Given the description of an element on the screen output the (x, y) to click on. 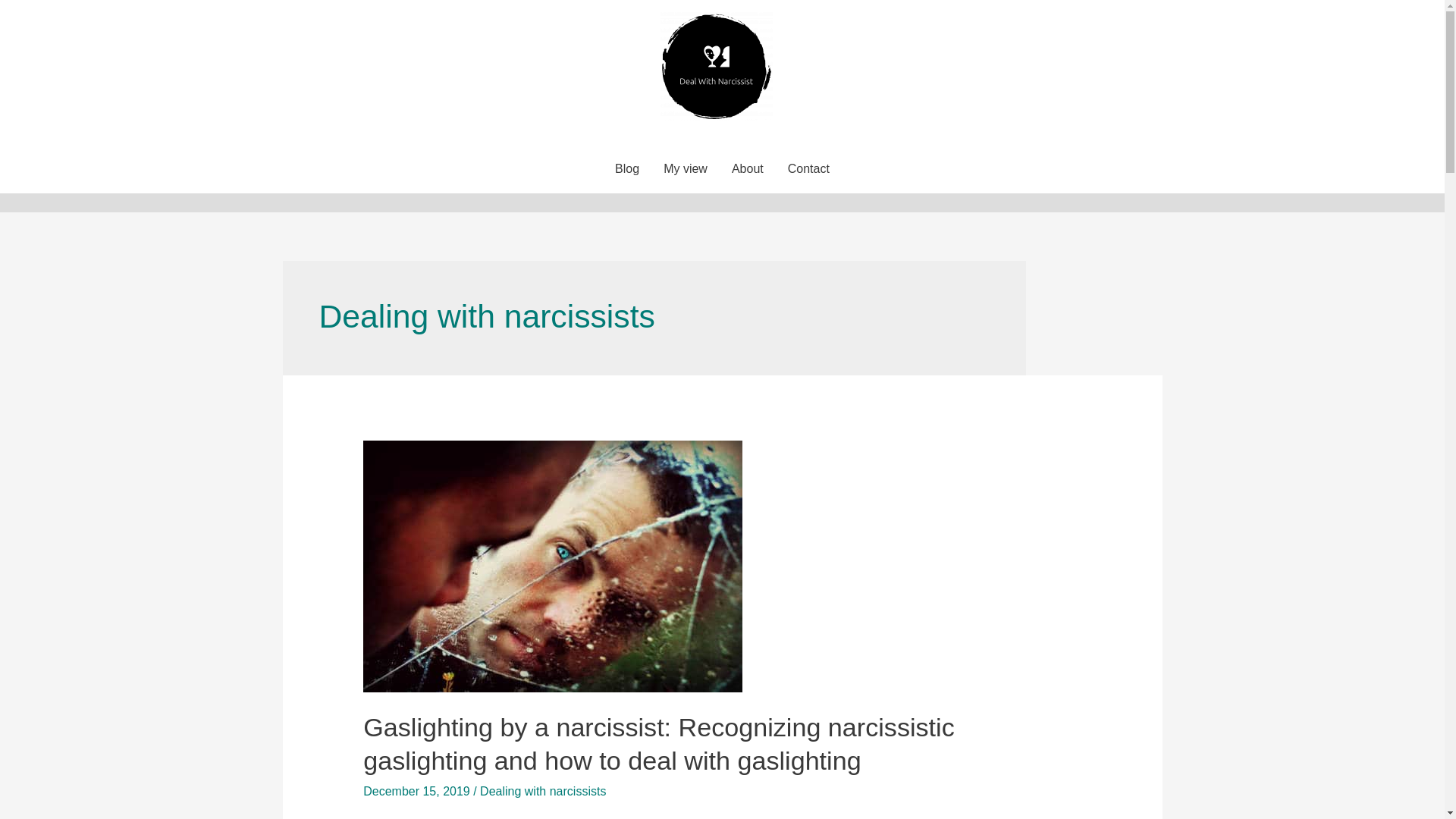
My view (684, 168)
About (747, 168)
Blog (626, 168)
Dealing with narcissists (542, 790)
Contact (808, 168)
